Given the description of an element on the screen output the (x, y) to click on. 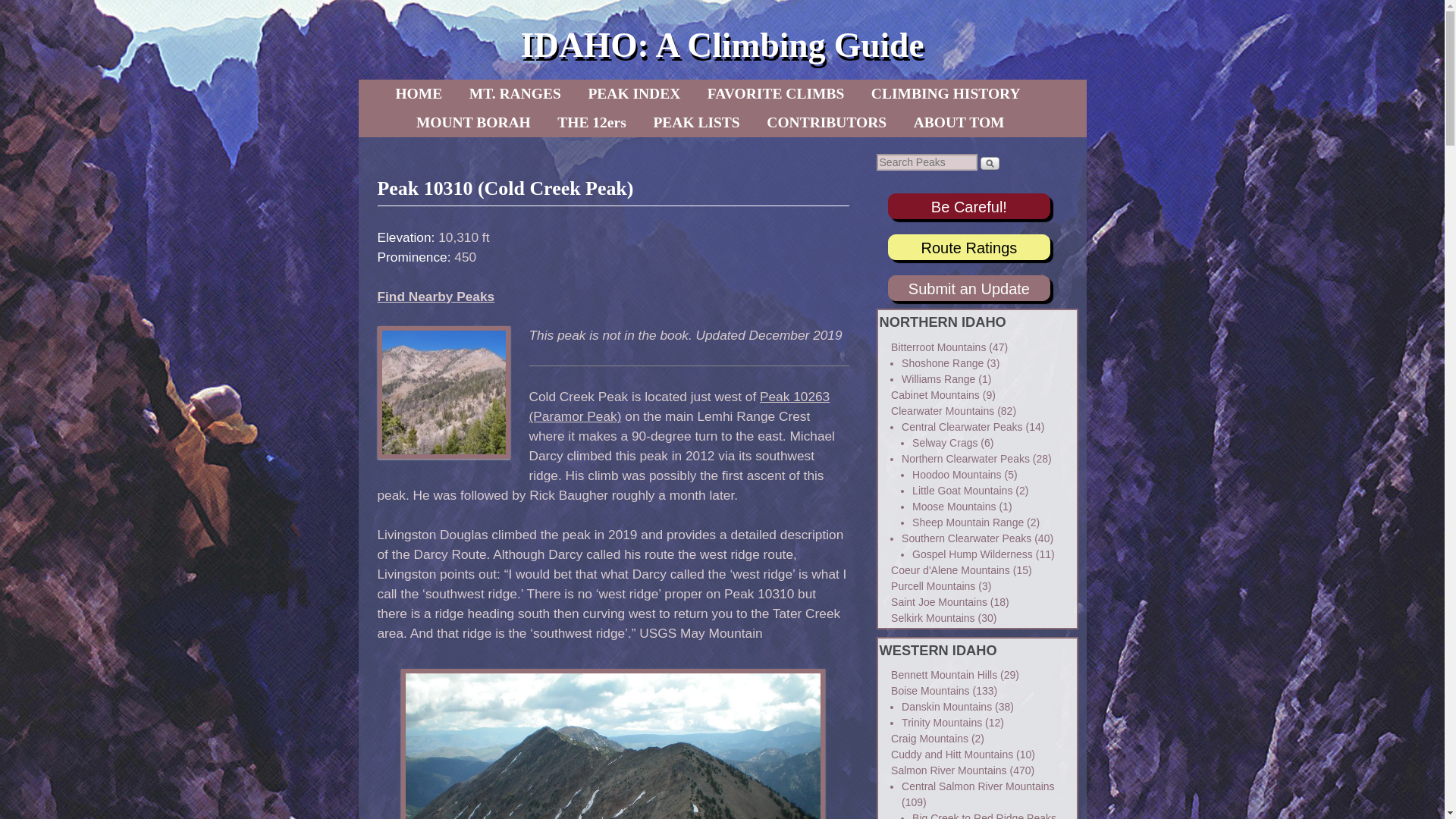
PEAK INDEX (633, 93)
Bitterroot Mountains (938, 346)
CONTRIBUTORS (825, 122)
Skip to secondary content (463, 93)
CLIMBING HISTORY (945, 93)
IDAHO: A Climbing Guide (721, 44)
ABOUT TOM (958, 122)
Williams Range (938, 378)
FAVORITE CLIMBS (775, 93)
MOUNT BORAH (473, 122)
Be Careful! (969, 207)
HOME (418, 93)
IDAHO: A Climbing Guide (721, 44)
PEAK LISTS (695, 122)
THE 12ers (591, 122)
